Given the description of an element on the screen output the (x, y) to click on. 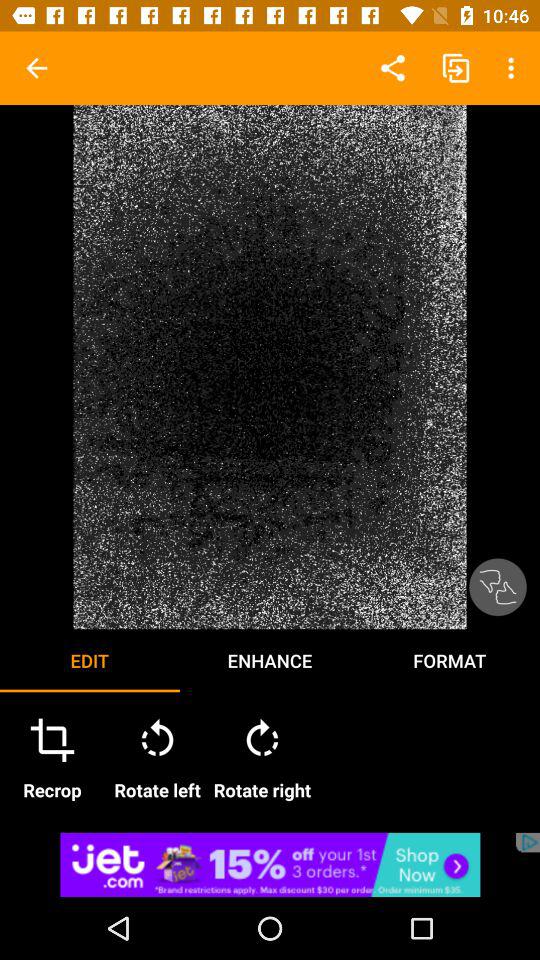
like or dislike the image (497, 587)
